Given the description of an element on the screen output the (x, y) to click on. 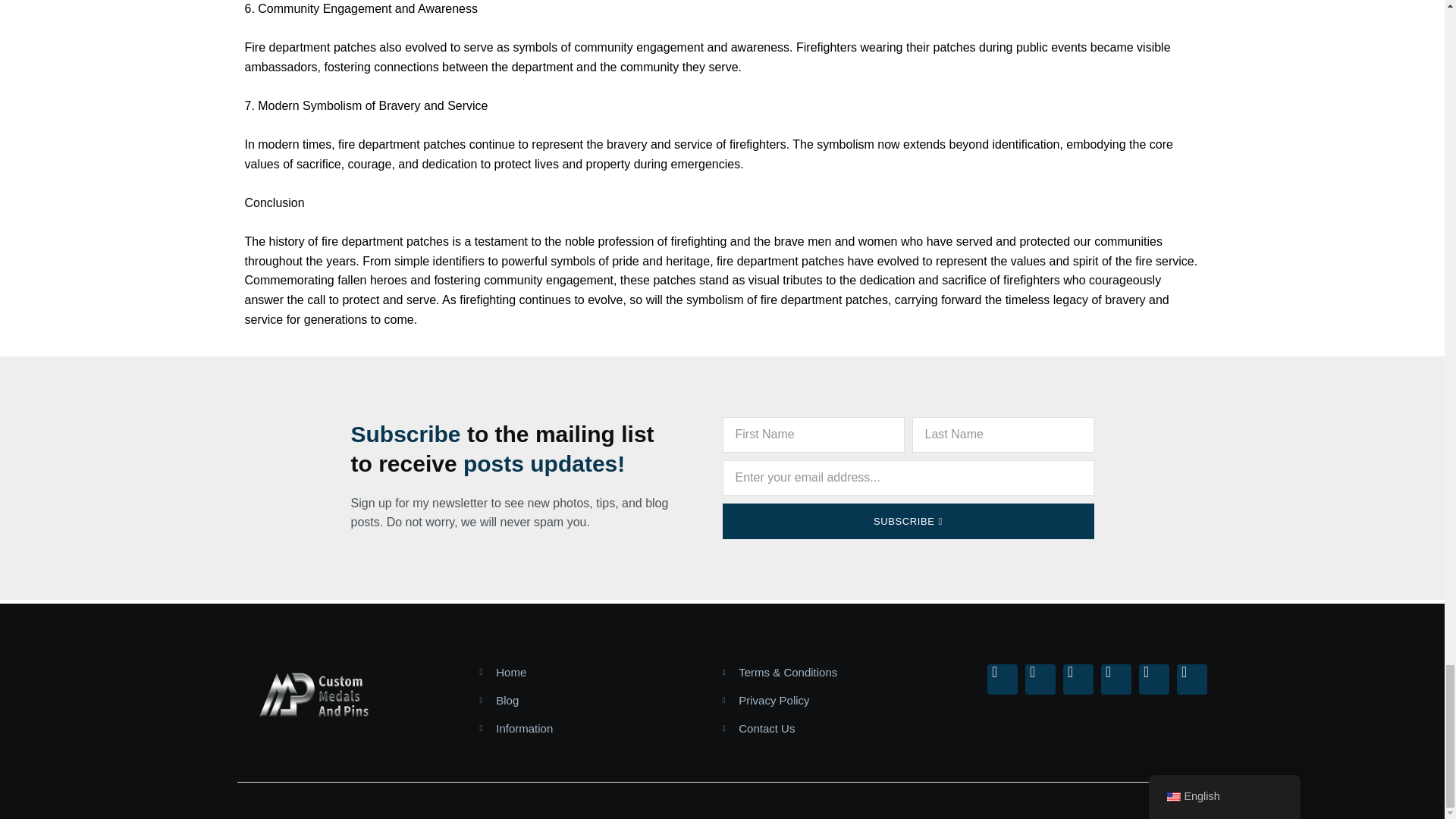
Contact Us (832, 728)
Privacy Policy (832, 700)
Blog (588, 700)
SUBSCRIBE (907, 520)
Information (588, 728)
Home (588, 672)
